Given the description of an element on the screen output the (x, y) to click on. 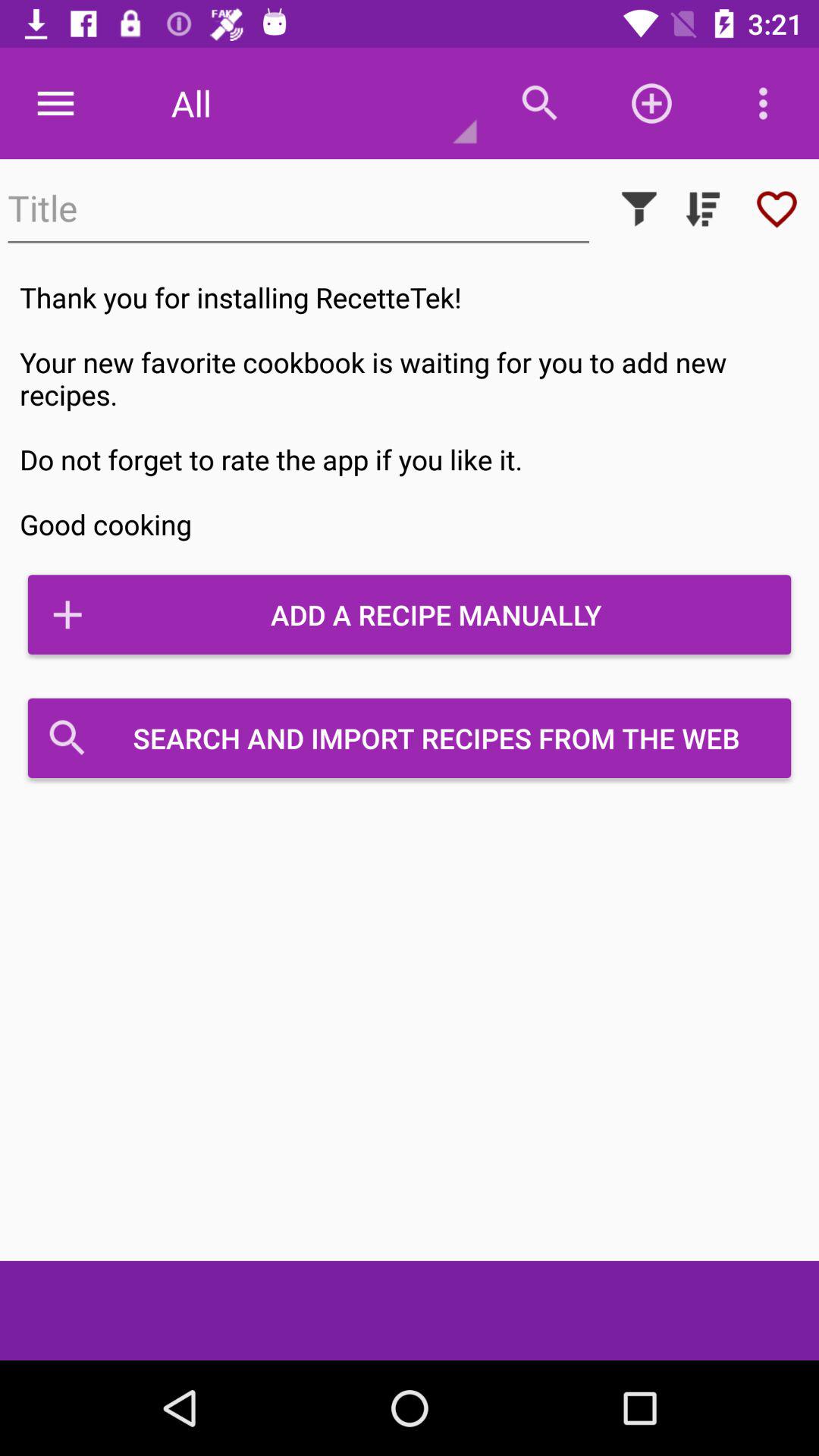
choose the search and import icon (409, 737)
